Given the description of an element on the screen output the (x, y) to click on. 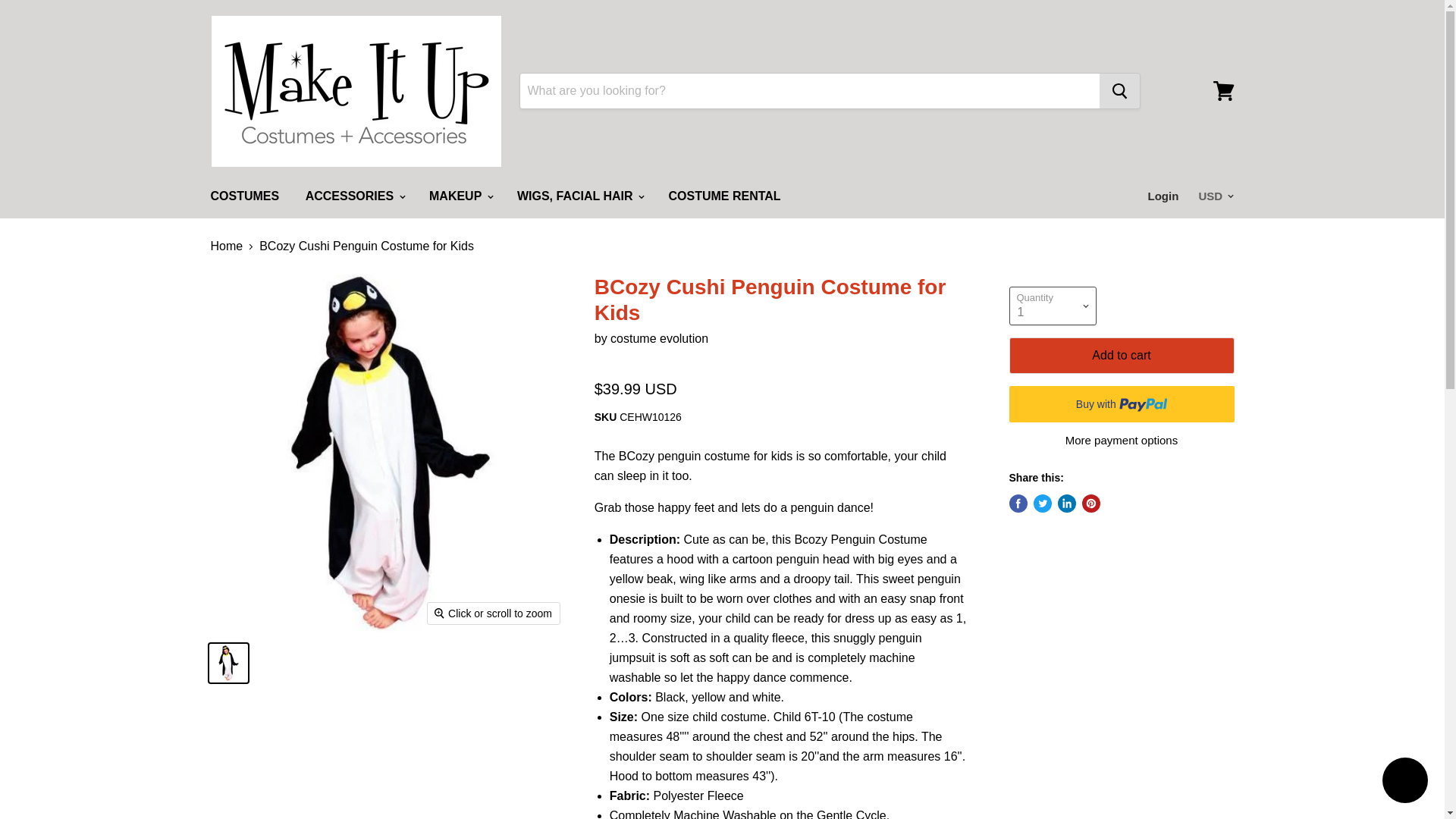
Shopify online store chat (1404, 781)
COSTUMES (243, 196)
costume evolution (658, 338)
View cart (1223, 90)
ACCESSORIES (354, 196)
